Given the description of an element on the screen output the (x, y) to click on. 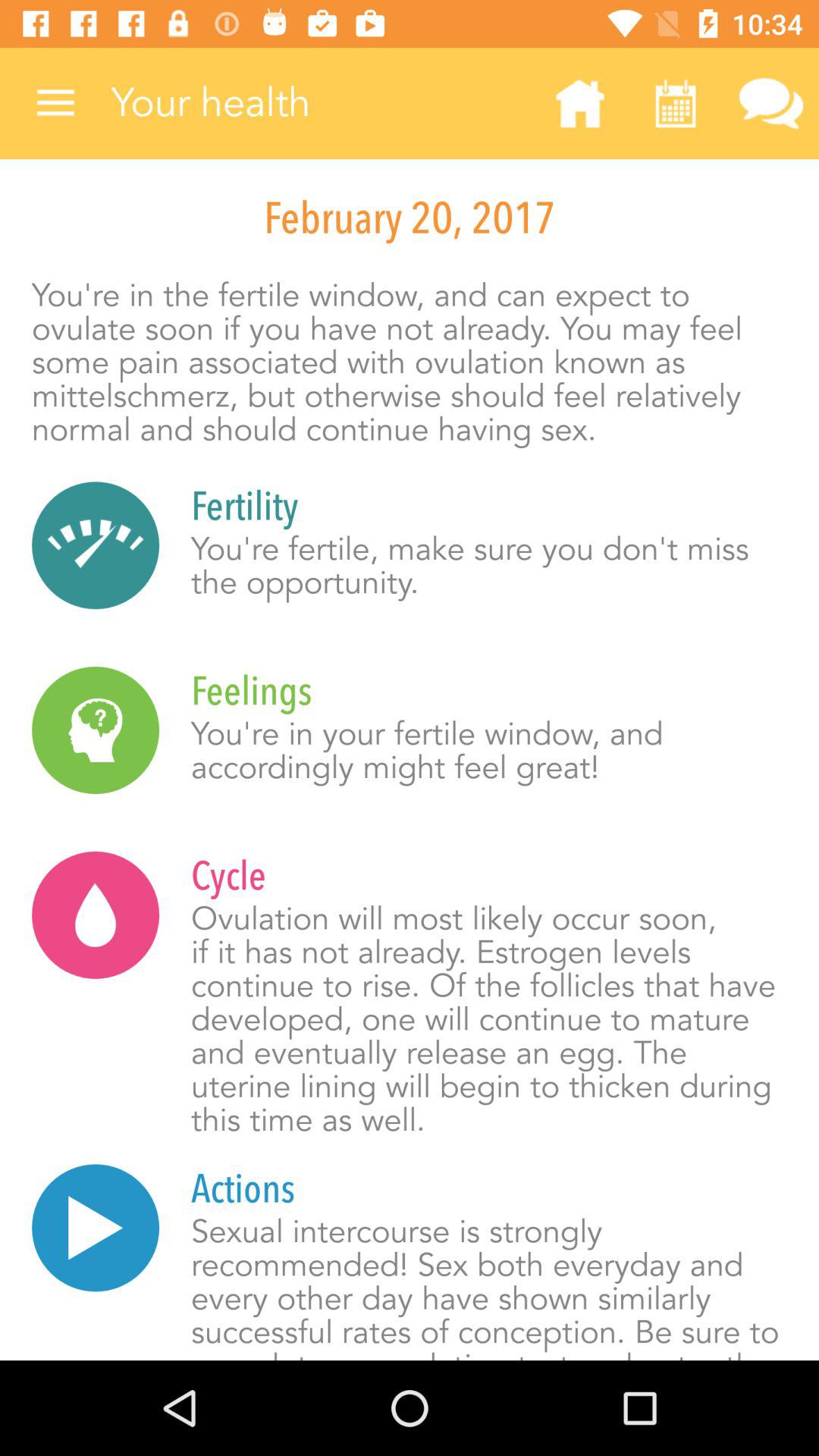
tap icon above the february 20, 2017 item (321, 103)
